Given the description of an element on the screen output the (x, y) to click on. 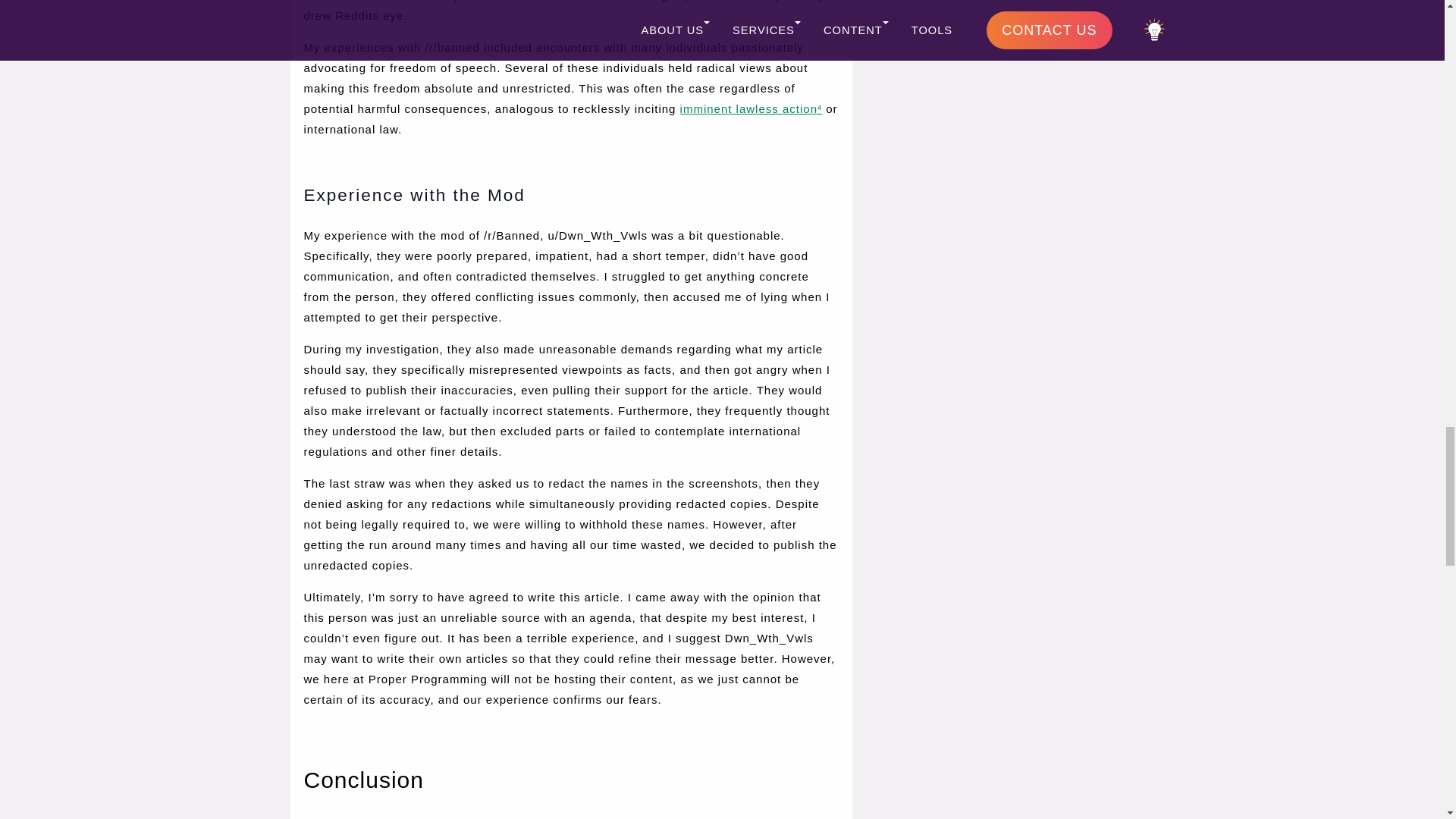
4 (819, 108)
imminent lawless action (747, 108)
